Given the description of an element on the screen output the (x, y) to click on. 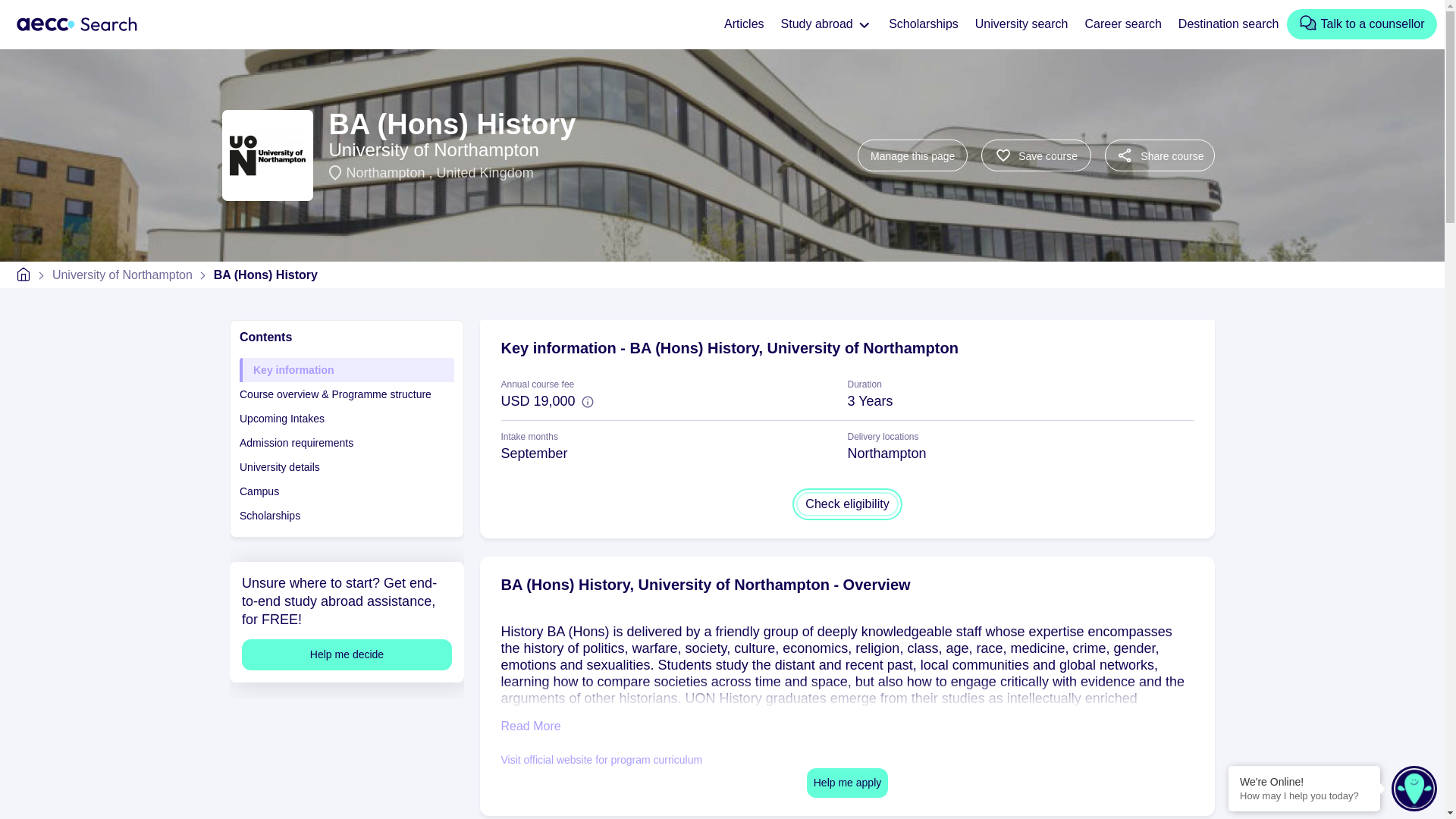
Talk to a counsellor (1361, 24)
Campus (347, 491)
United Kingdom (485, 172)
Northampton (387, 172)
University of Northampton (433, 149)
We're Online! (1304, 781)
Destination search (1228, 23)
Scholarships (923, 23)
Manage this page (912, 155)
Career search (1122, 23)
Articles (743, 23)
University details (347, 467)
Admission requirements (347, 442)
University of Northampton (122, 274)
How may I help you today? (1304, 795)
